Given the description of an element on the screen output the (x, y) to click on. 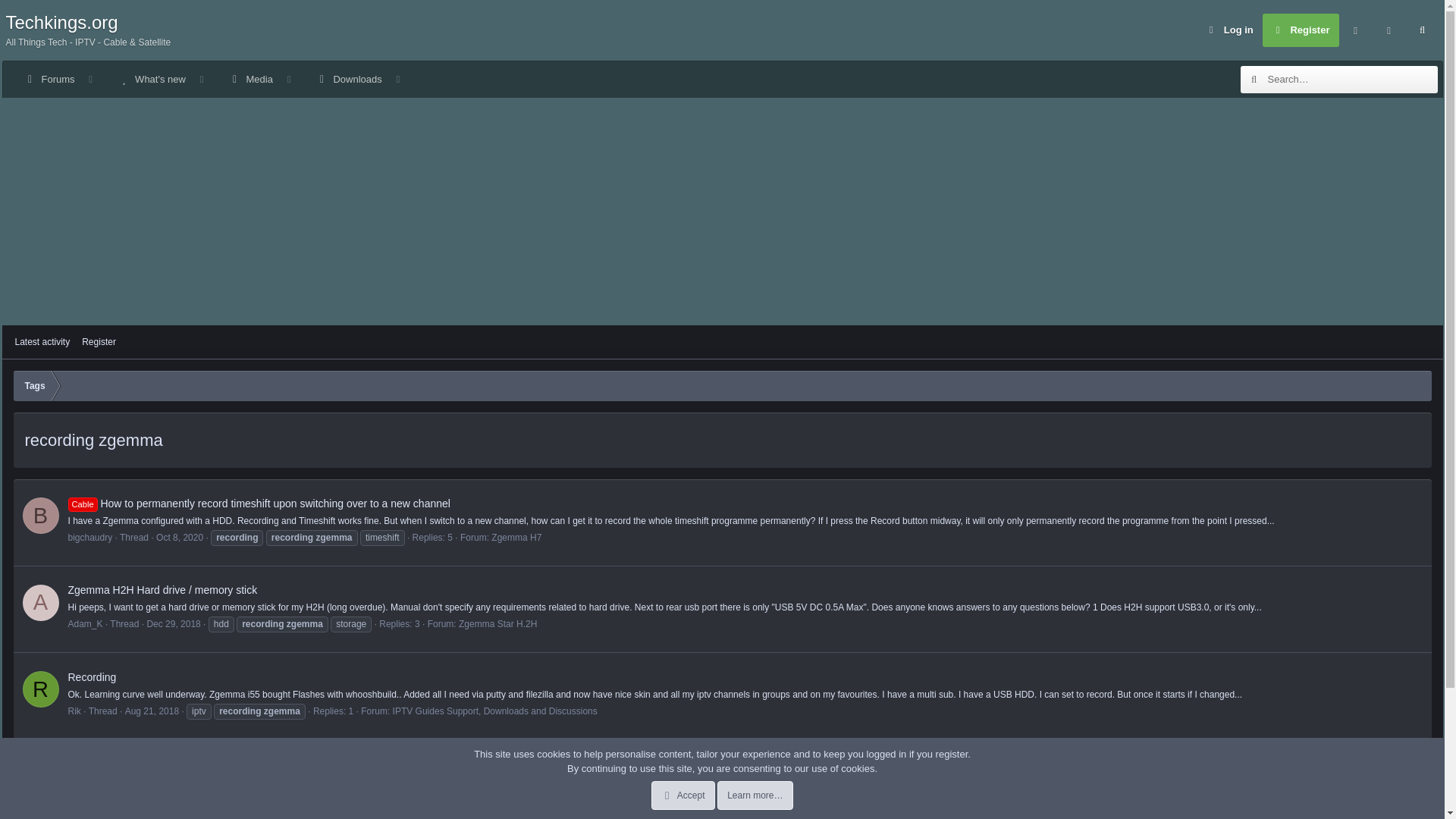
Register (1300, 29)
Forums (208, 79)
Aug 21, 2018 at 10:41 PM (208, 96)
Oct 8, 2020 at 11:46 PM (721, 358)
Log in (47, 79)
Downloads (152, 710)
Media (179, 537)
Dec 29, 2018 at 12:53 PM (1228, 29)
What's new (347, 79)
